Given the description of an element on the screen output the (x, y) to click on. 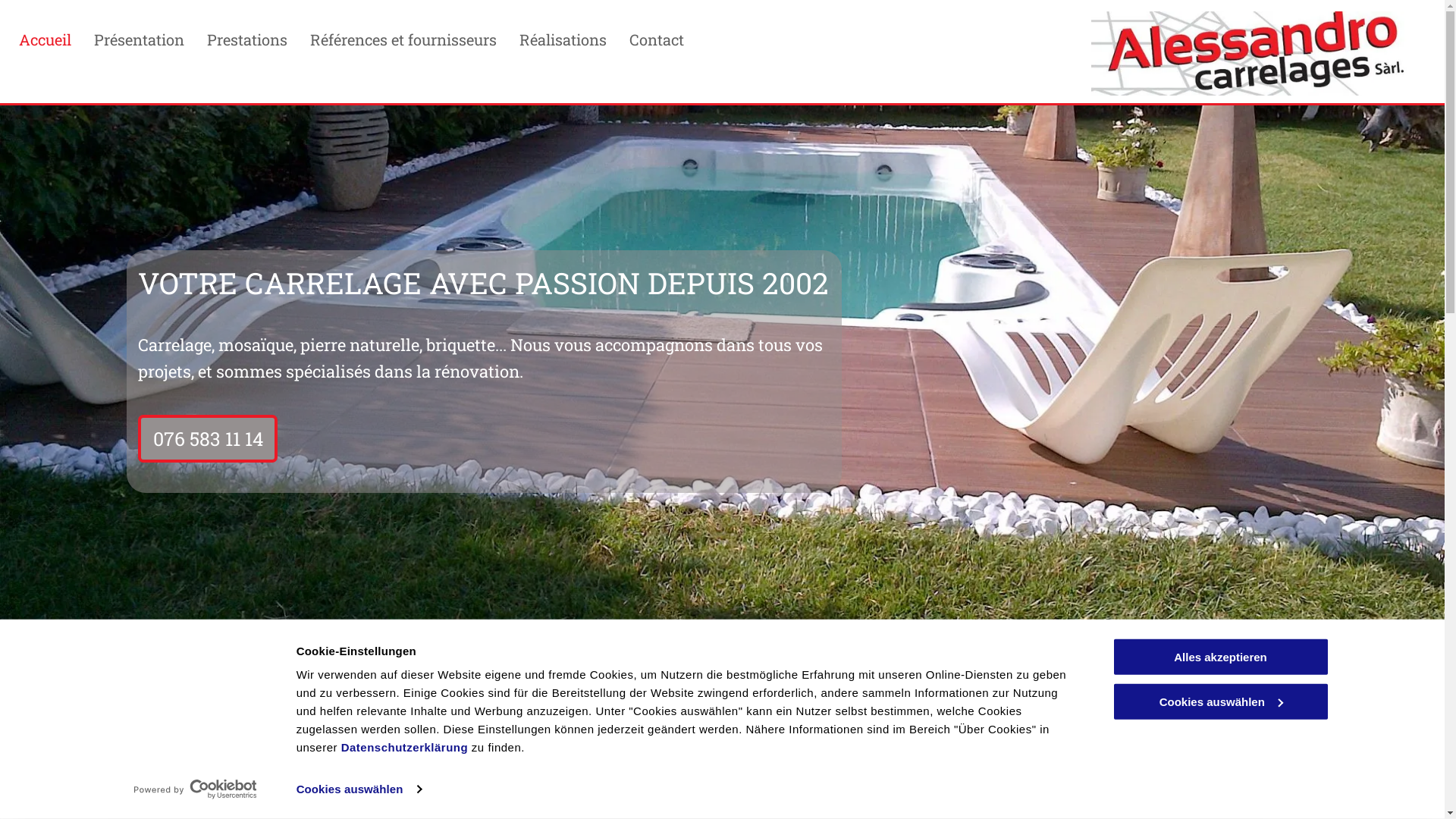
Contact Element type: text (656, 39)
Alles akzeptieren Element type: text (1219, 656)
Accueil Element type: text (44, 39)
076 583 11 14 Element type: text (207, 438)
Prestations Element type: text (247, 39)
